Given the description of an element on the screen output the (x, y) to click on. 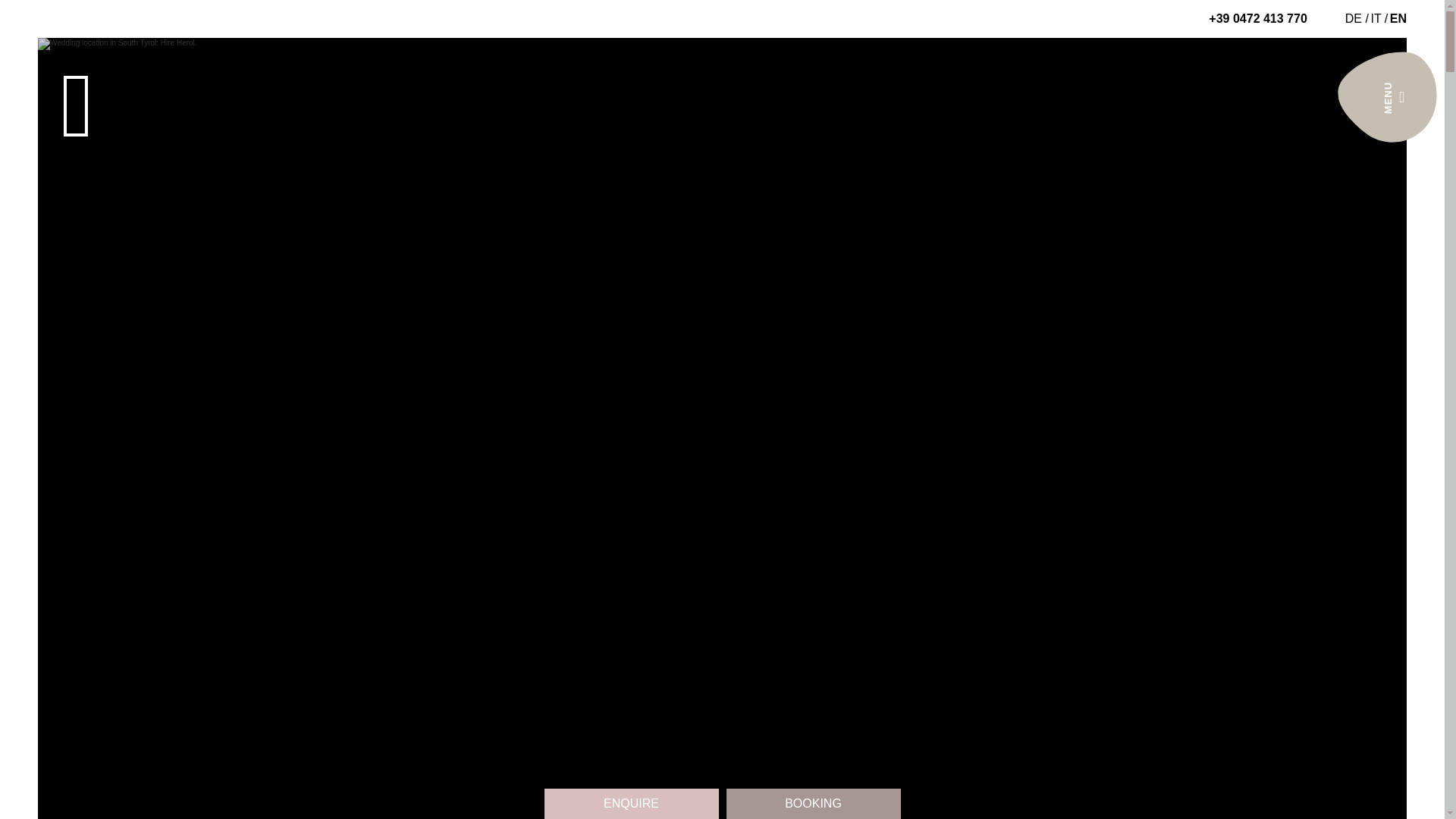
EN (1398, 18)
English (1398, 18)
IT (1379, 18)
DE (1358, 18)
Italiano (1379, 18)
Deutsch (1358, 18)
